Given the description of an element on the screen output the (x, y) to click on. 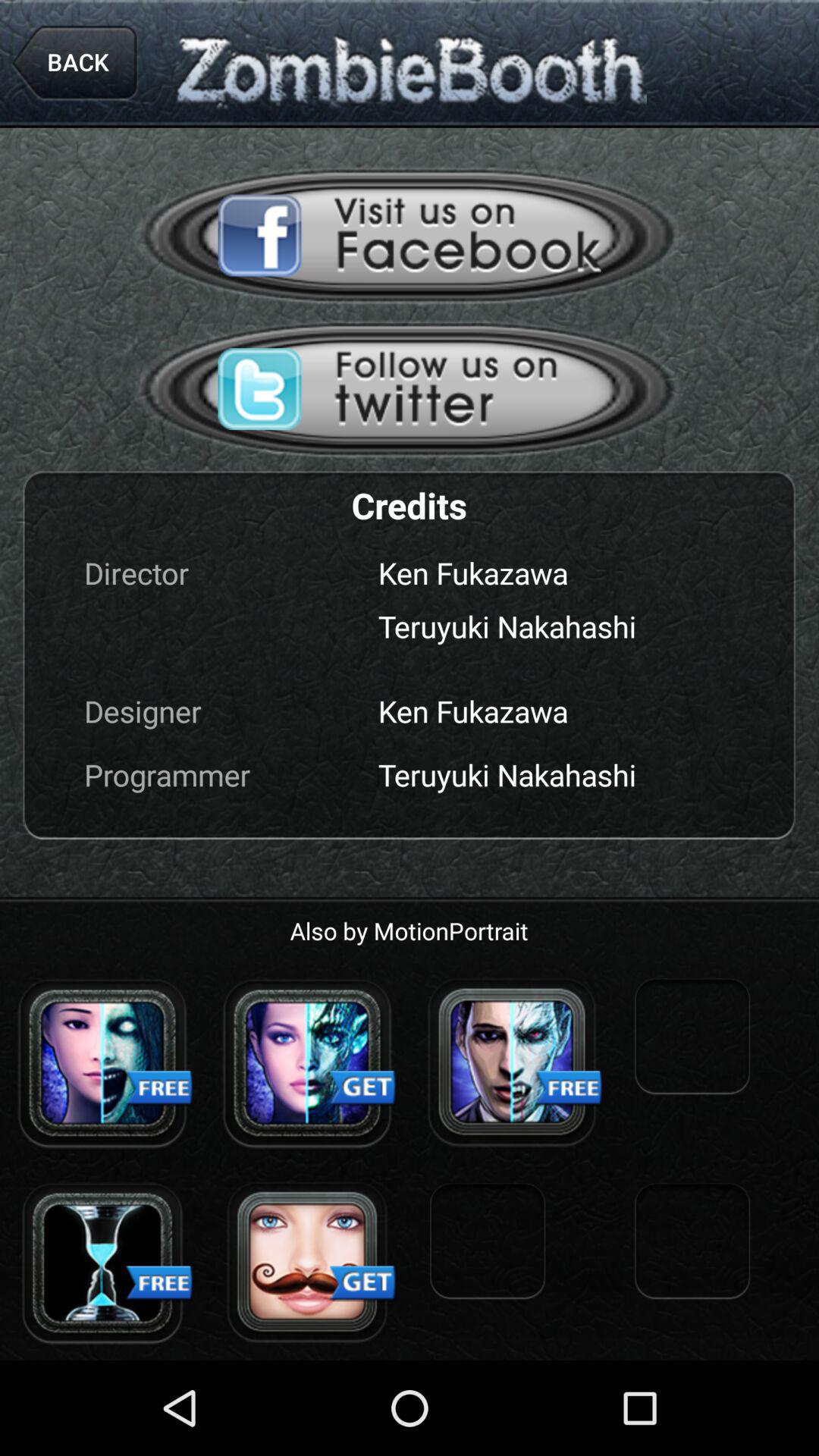
visit the facebook page (409, 235)
